Given the description of an element on the screen output the (x, y) to click on. 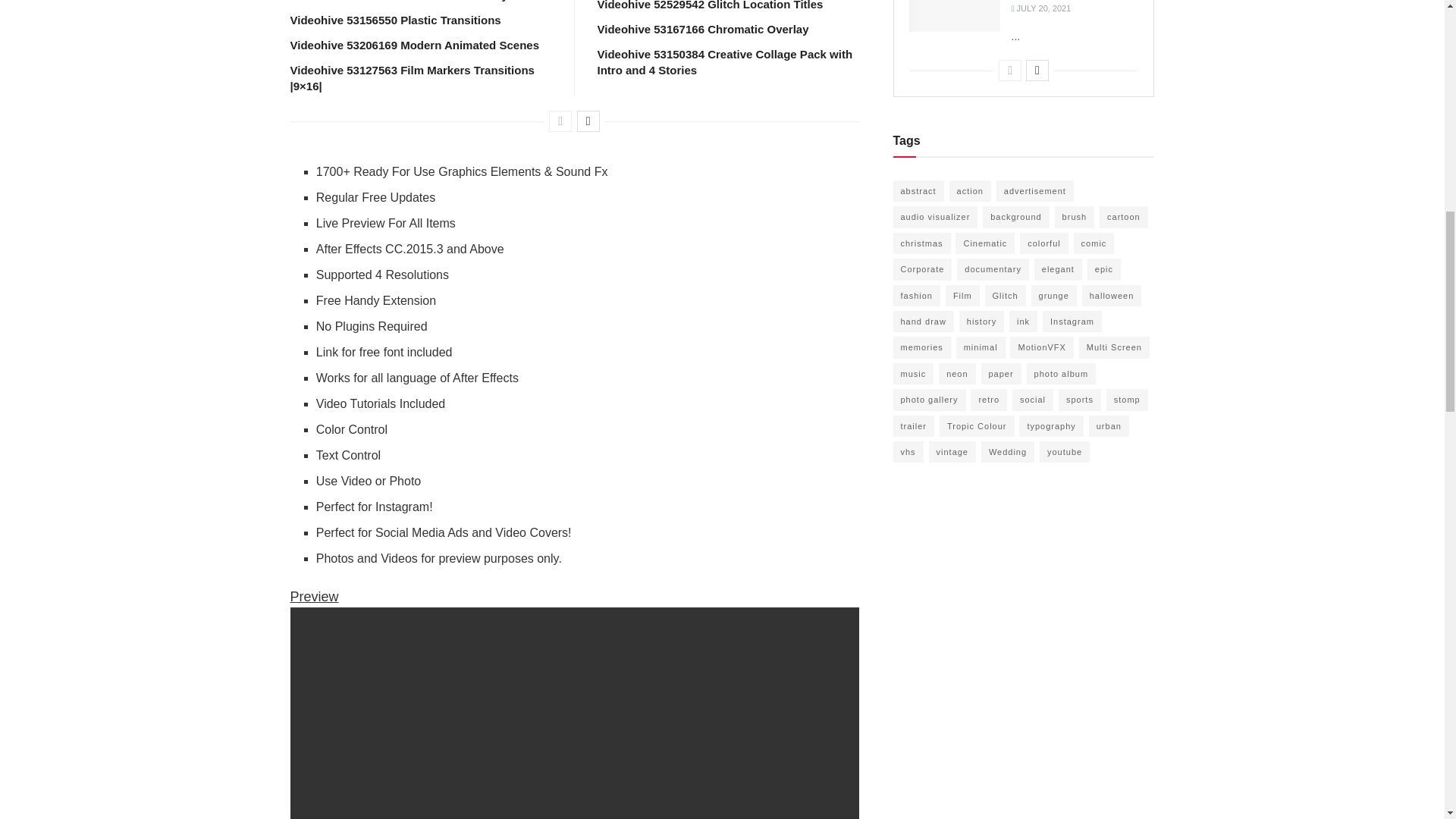
Previous (560, 120)
Previous (1010, 70)
Next (1037, 70)
Next (587, 120)
